Given the description of an element on the screen output the (x, y) to click on. 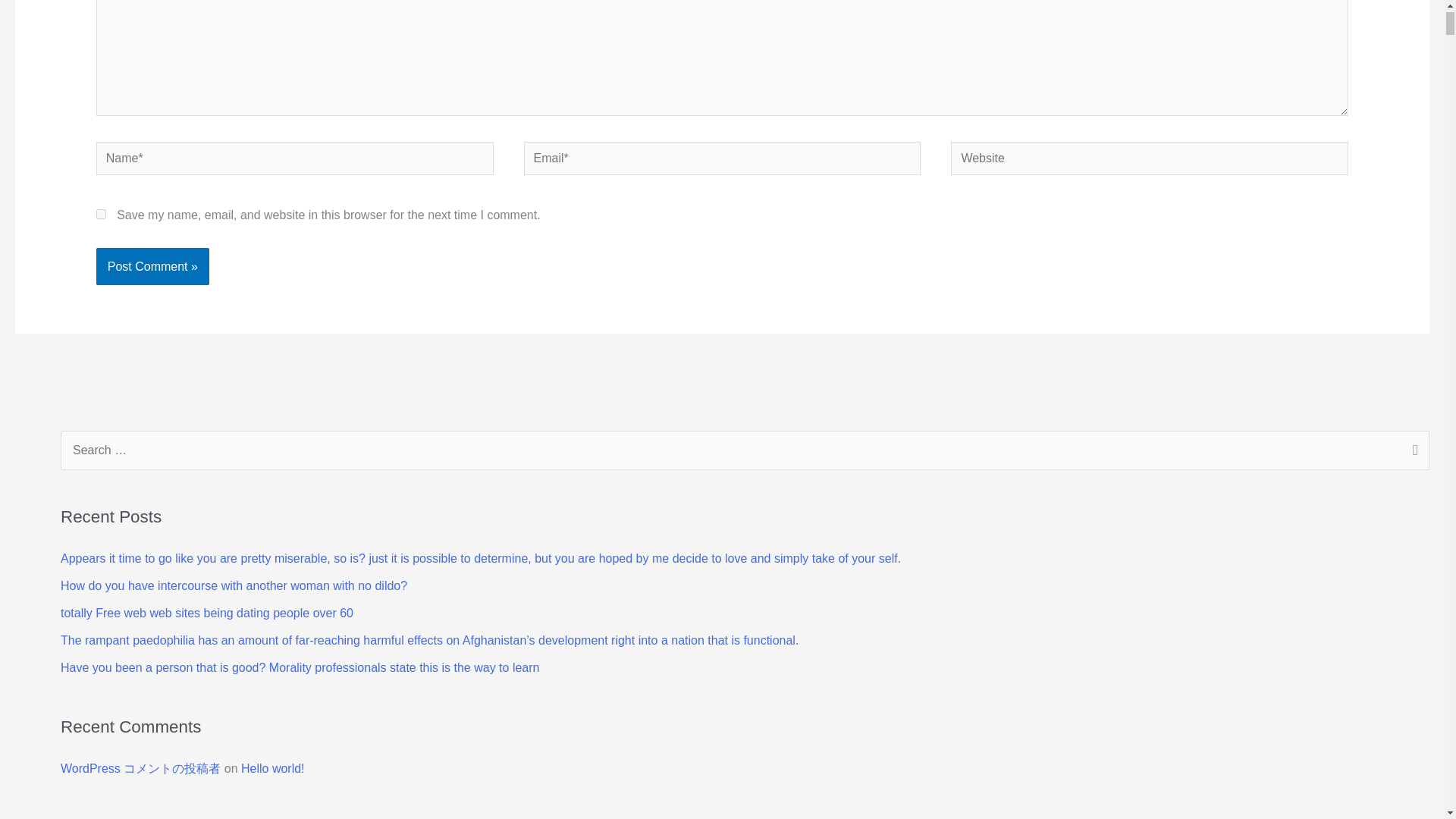
yes (101, 214)
Hello world! (272, 768)
totally Free web web sites being dating people over 60 (207, 612)
